Given the description of an element on the screen output the (x, y) to click on. 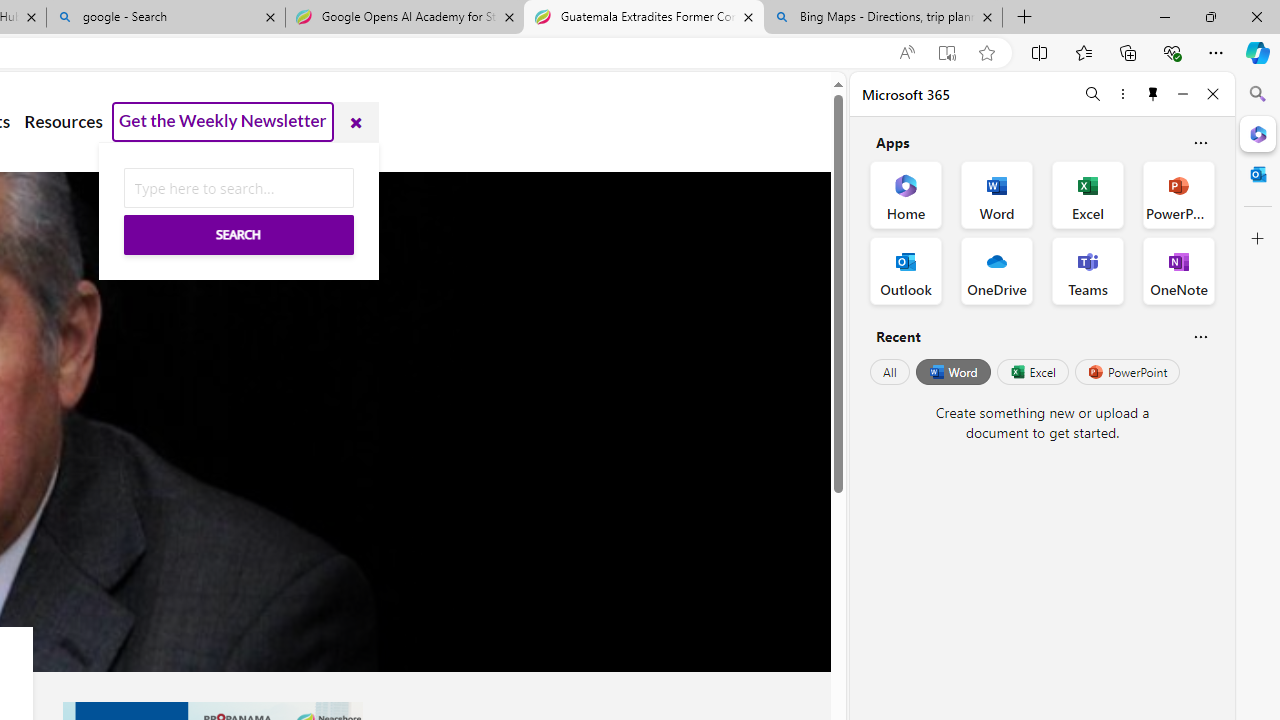
Word (952, 372)
Resources (63, 121)
Outlook Office App (906, 270)
Get the Weekly Newsletter (223, 121)
SEARCH (238, 211)
Type here to search... (238, 187)
